Given the description of an element on the screen output the (x, y) to click on. 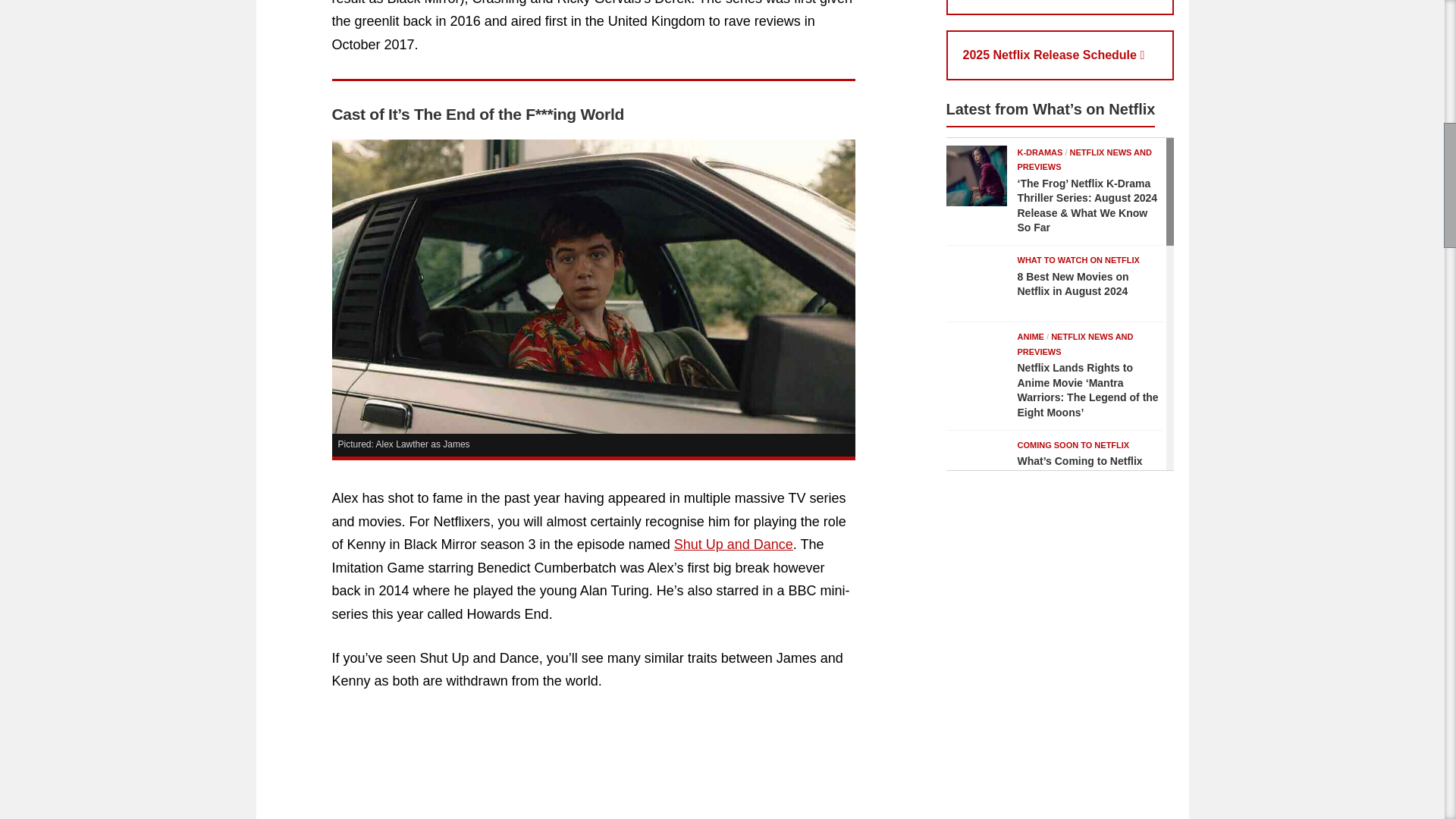
2024 Netflix Release Schedule (1059, 7)
8 Best New Movies on Netflix in August 2024 (1073, 284)
2025 Netflix Release Schedule (1059, 55)
2024 Netflix Release Schedule (1059, 7)
2025 Netflix Release Schedule (1059, 55)
Shut Up and Dance (733, 544)
WHAT TO WATCH ON NETFLIX (1078, 259)
NETFLIX NEWS AND PREVIEWS (1084, 159)
K-DRAMAS (1039, 151)
8 Best New Movies on Netflix in August 2024 (976, 283)
